Given the description of an element on the screen output the (x, y) to click on. 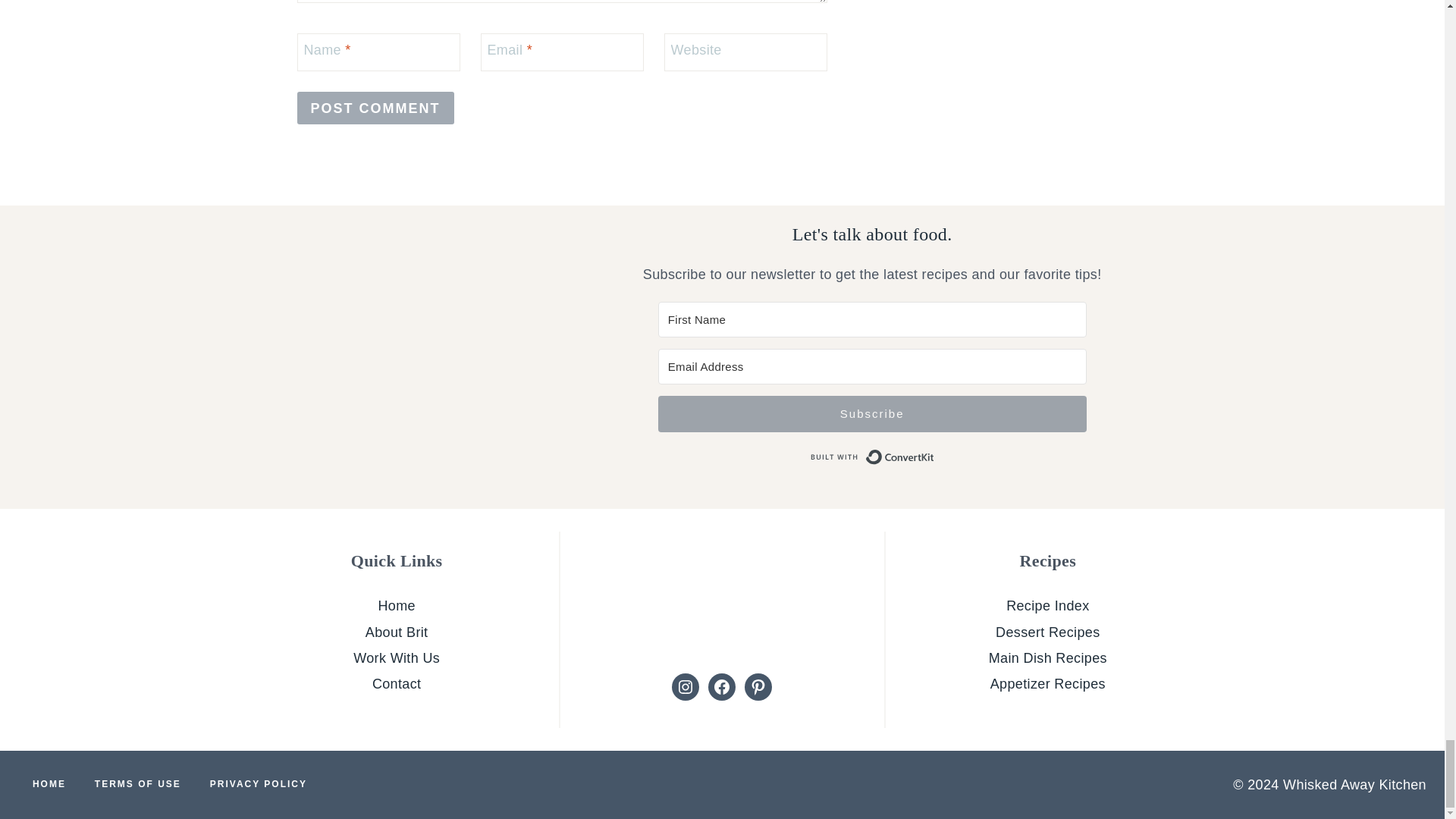
Post Comment (375, 107)
